Given the description of an element on the screen output the (x, y) to click on. 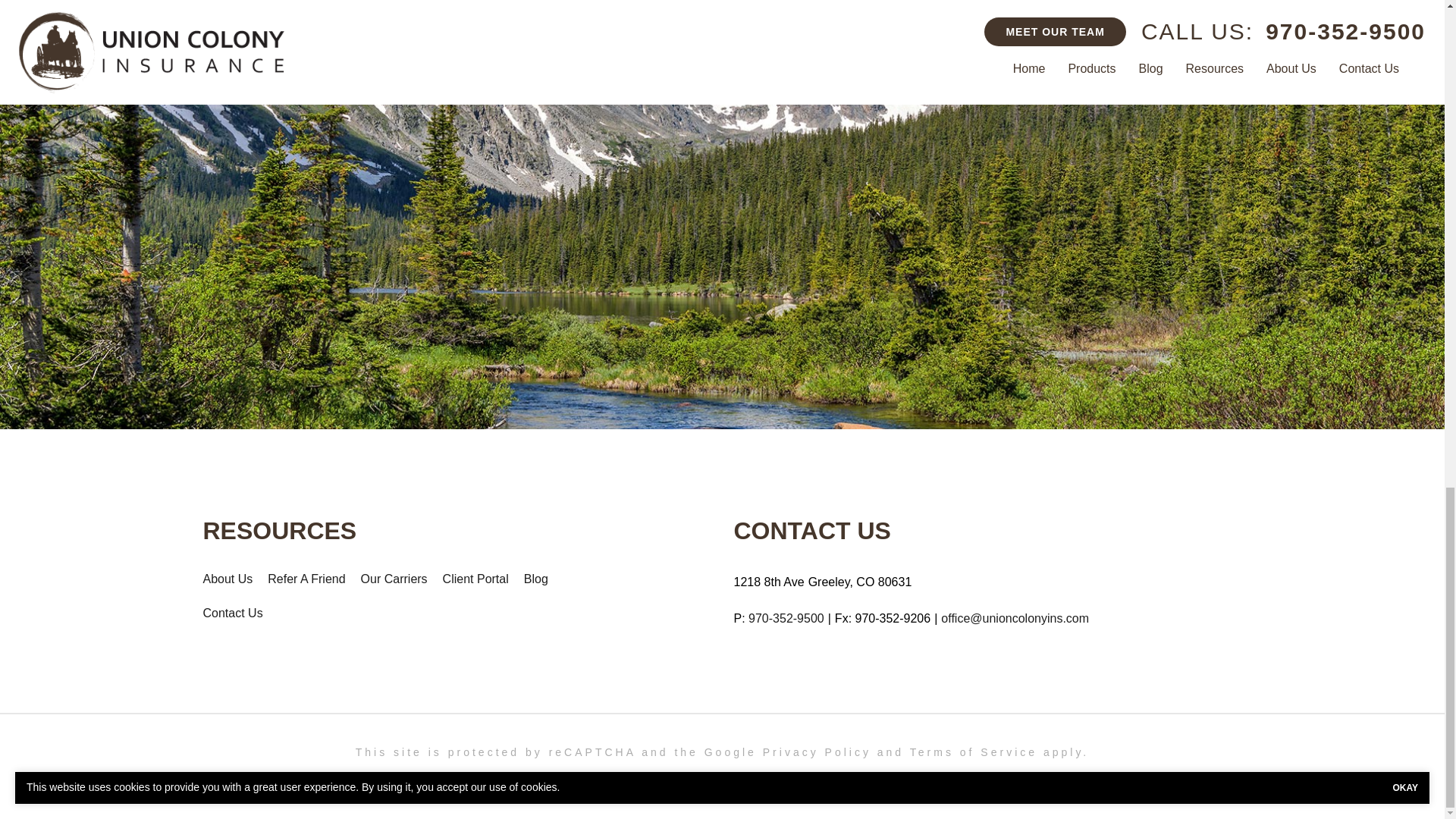
Insurance Website Builder (880, 779)
